Given the description of an element on the screen output the (x, y) to click on. 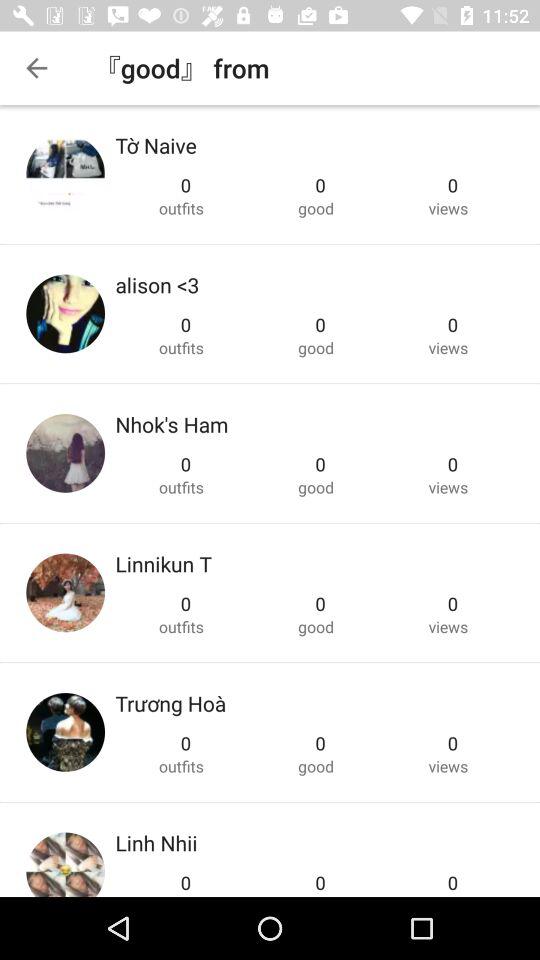
swipe to the alison <3 (157, 284)
